Given the description of an element on the screen output the (x, y) to click on. 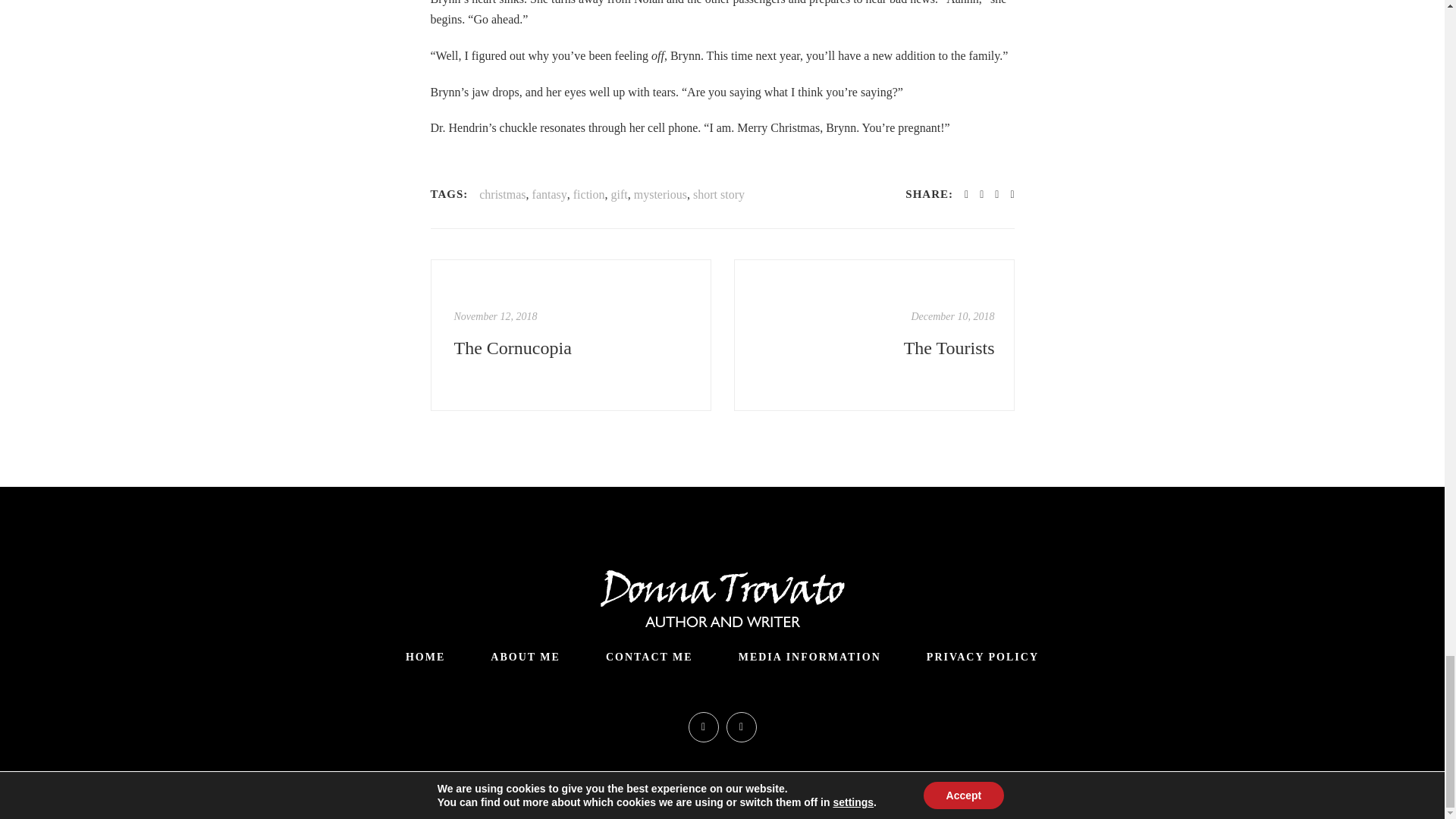
The Cornucopia (571, 347)
The Tourists (875, 347)
Twitter (703, 726)
The Tourists (875, 347)
The Cornucopia (571, 347)
mysterious (660, 194)
christmas (502, 194)
CONTACT ME (649, 657)
fiction (589, 194)
December 10, 2018 (952, 316)
ABOUT ME (525, 657)
The Tourists (873, 335)
HOME (425, 657)
Matthew Prodger (830, 785)
PRIVACY POLICY (982, 657)
